Given the description of an element on the screen output the (x, y) to click on. 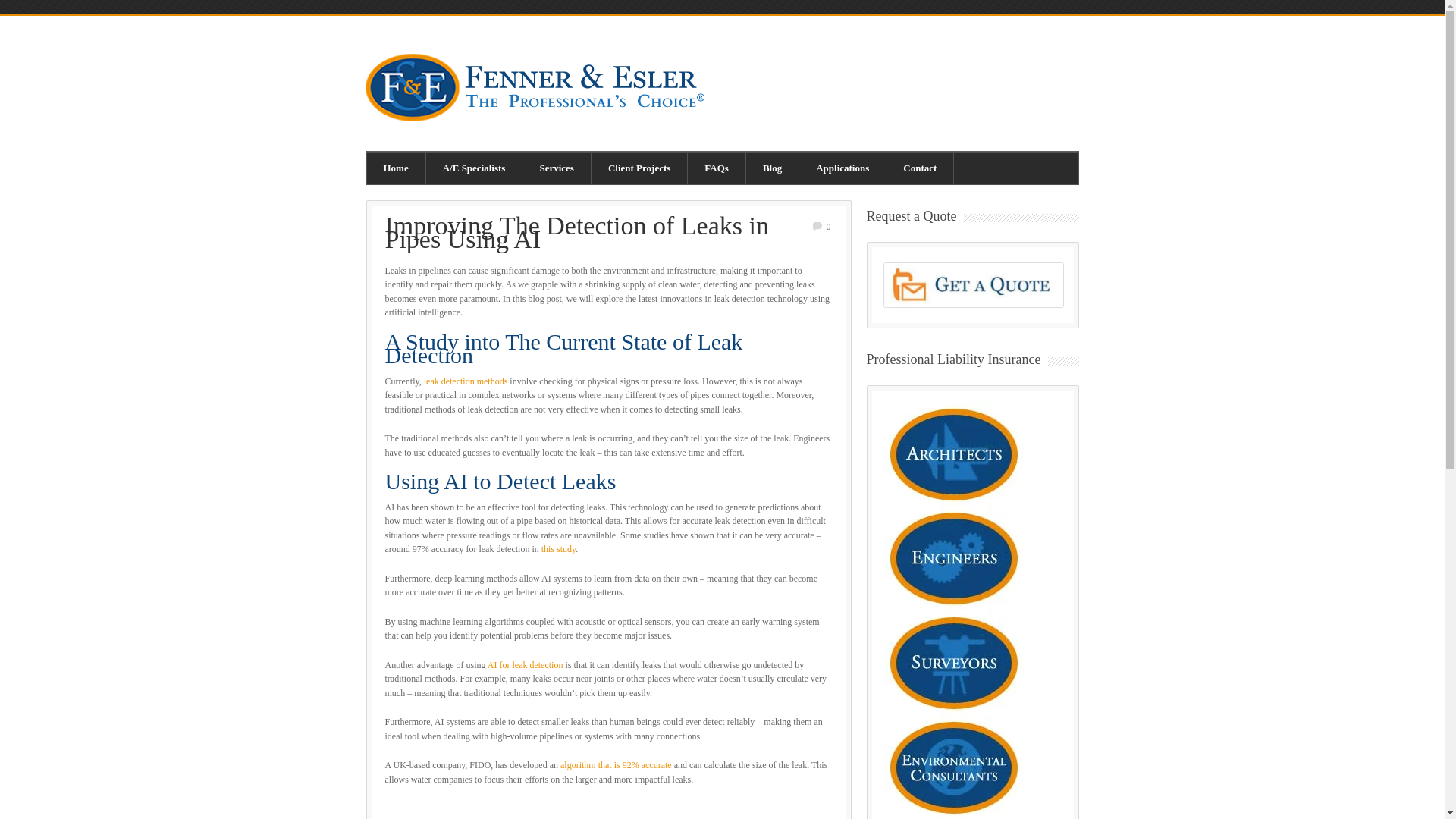
Services (556, 168)
leak detection methods (465, 380)
FAQs (716, 168)
Improving The Detection of Leaks in Pipes Using AI (576, 231)
Client Projects (639, 168)
AI for leak detection (525, 665)
Home (396, 168)
Blog (772, 168)
Applications (842, 168)
Contact (919, 168)
